Given the description of an element on the screen output the (x, y) to click on. 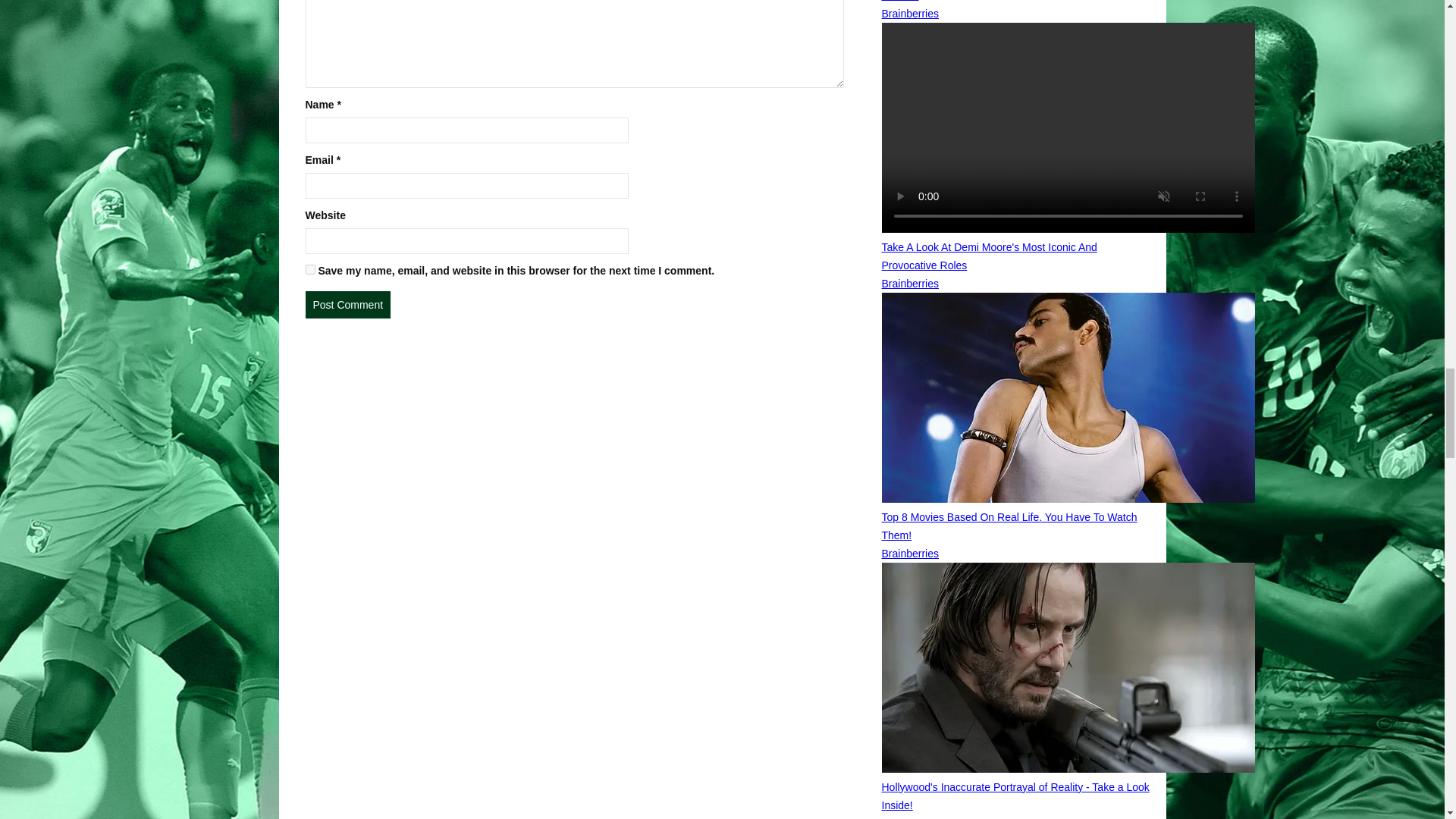
yes (309, 269)
Post Comment (347, 304)
